Given the description of an element on the screen output the (x, y) to click on. 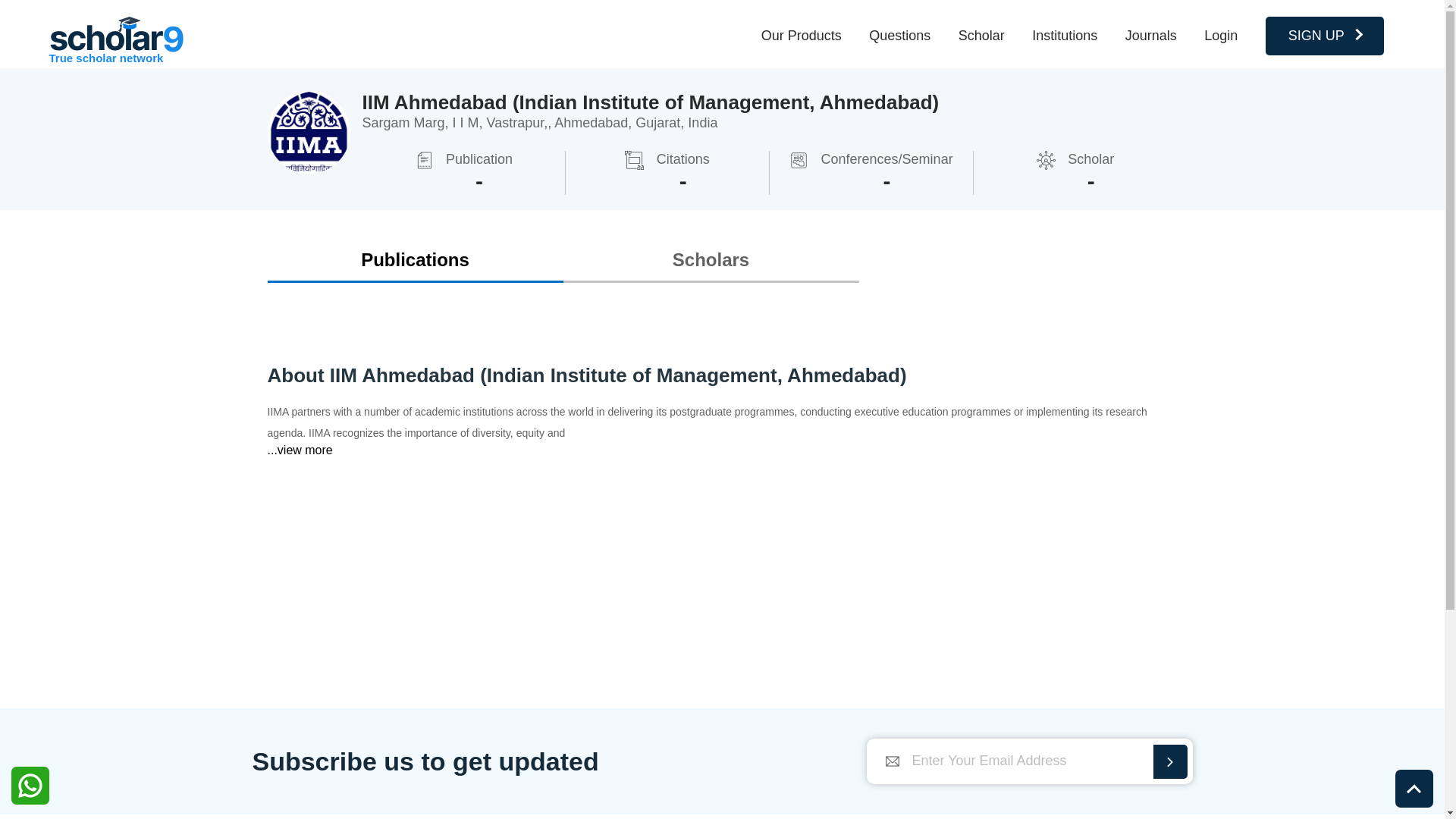
logo (116, 34)
Scholars (710, 259)
Institutions (1064, 35)
submit (1169, 761)
Login (1220, 35)
Scholar (981, 35)
Journals (1150, 35)
Questions (899, 35)
SIGN UP (1324, 35)
Publications (414, 259)
submit (1169, 761)
